Given the description of an element on the screen output the (x, y) to click on. 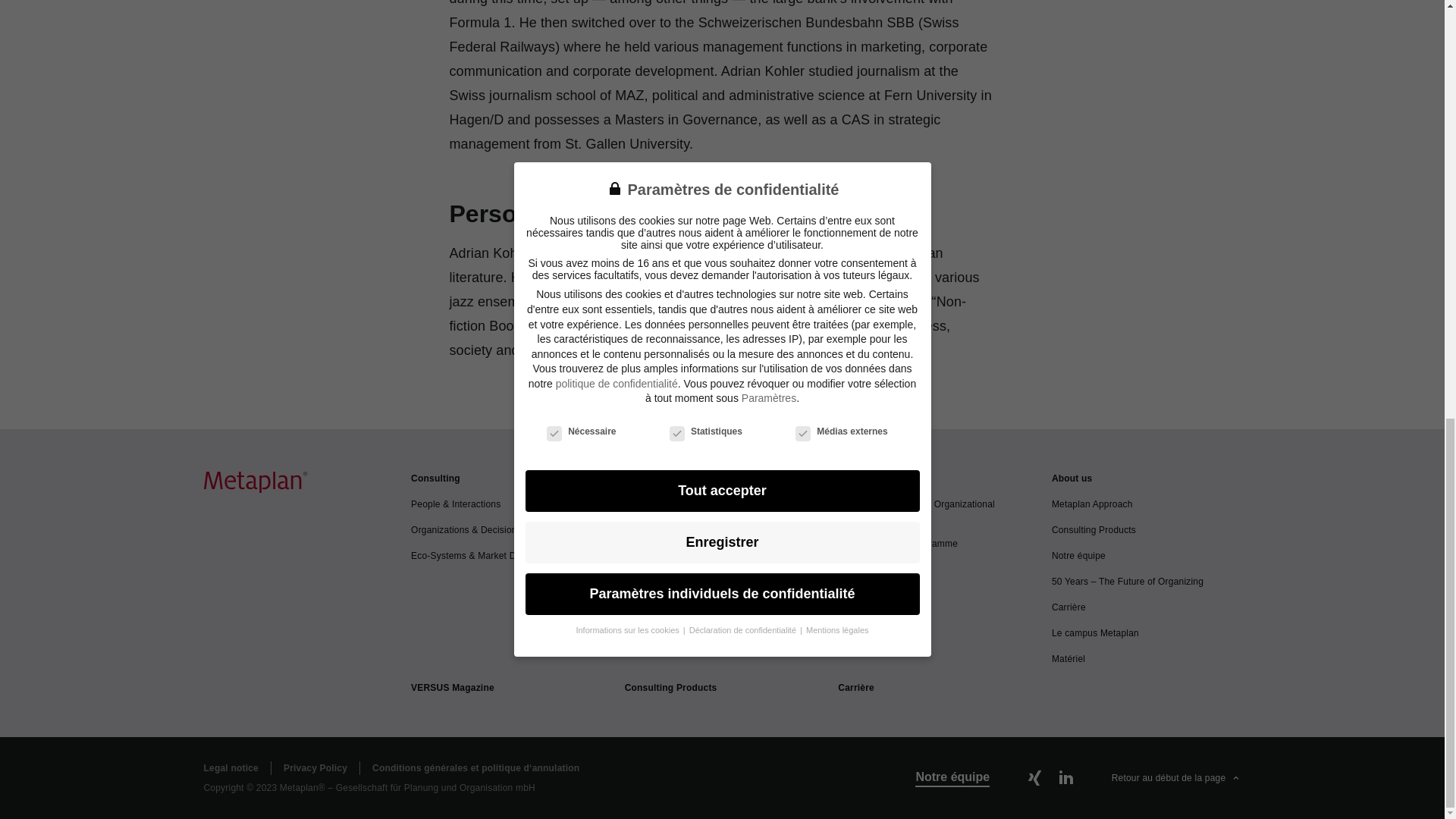
Xing (1034, 778)
LinkedIn (1065, 778)
